Given the description of an element on the screen output the (x, y) to click on. 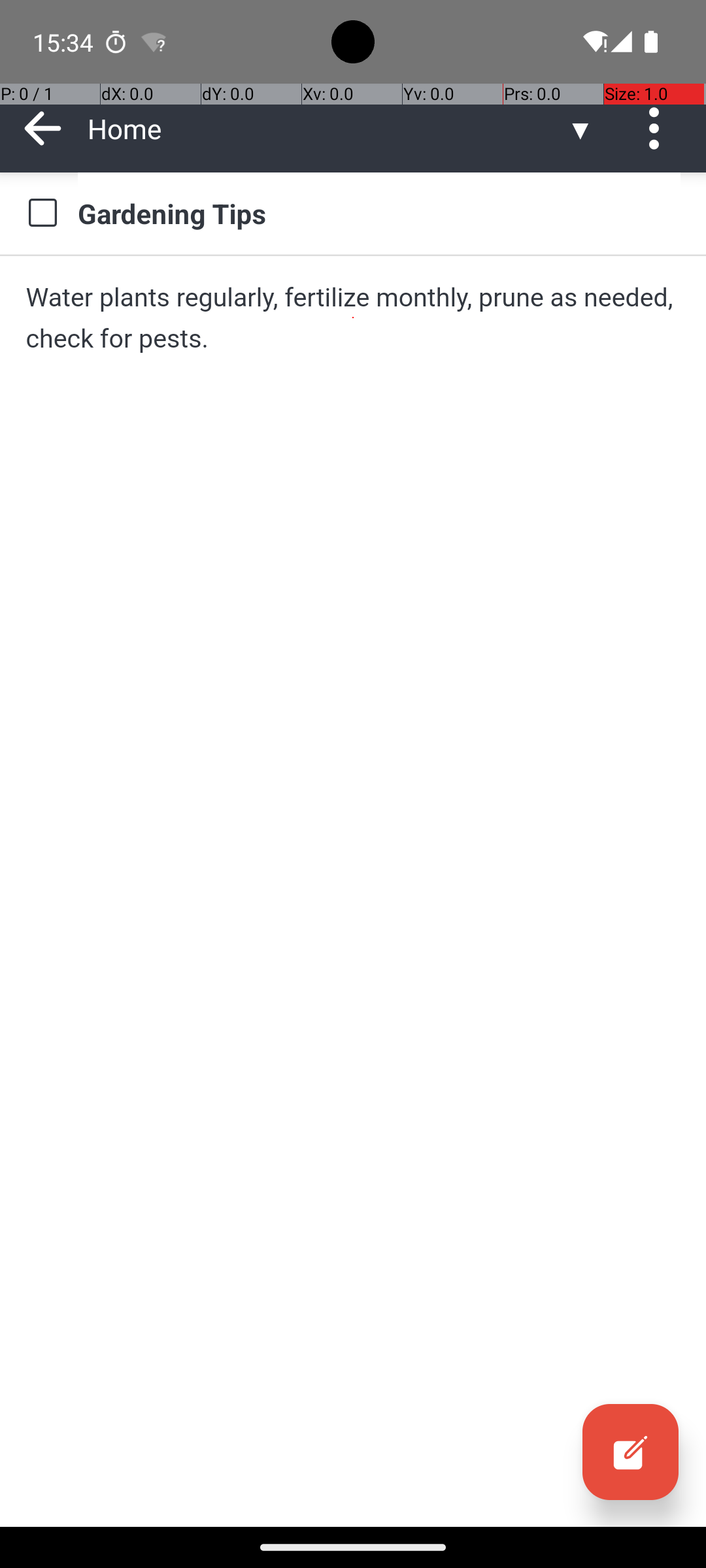
Water plants regularly, fertilize monthly, prune as needed, check for pests. Element type: android.widget.TextView (352, 317)
